Given the description of an element on the screen output the (x, y) to click on. 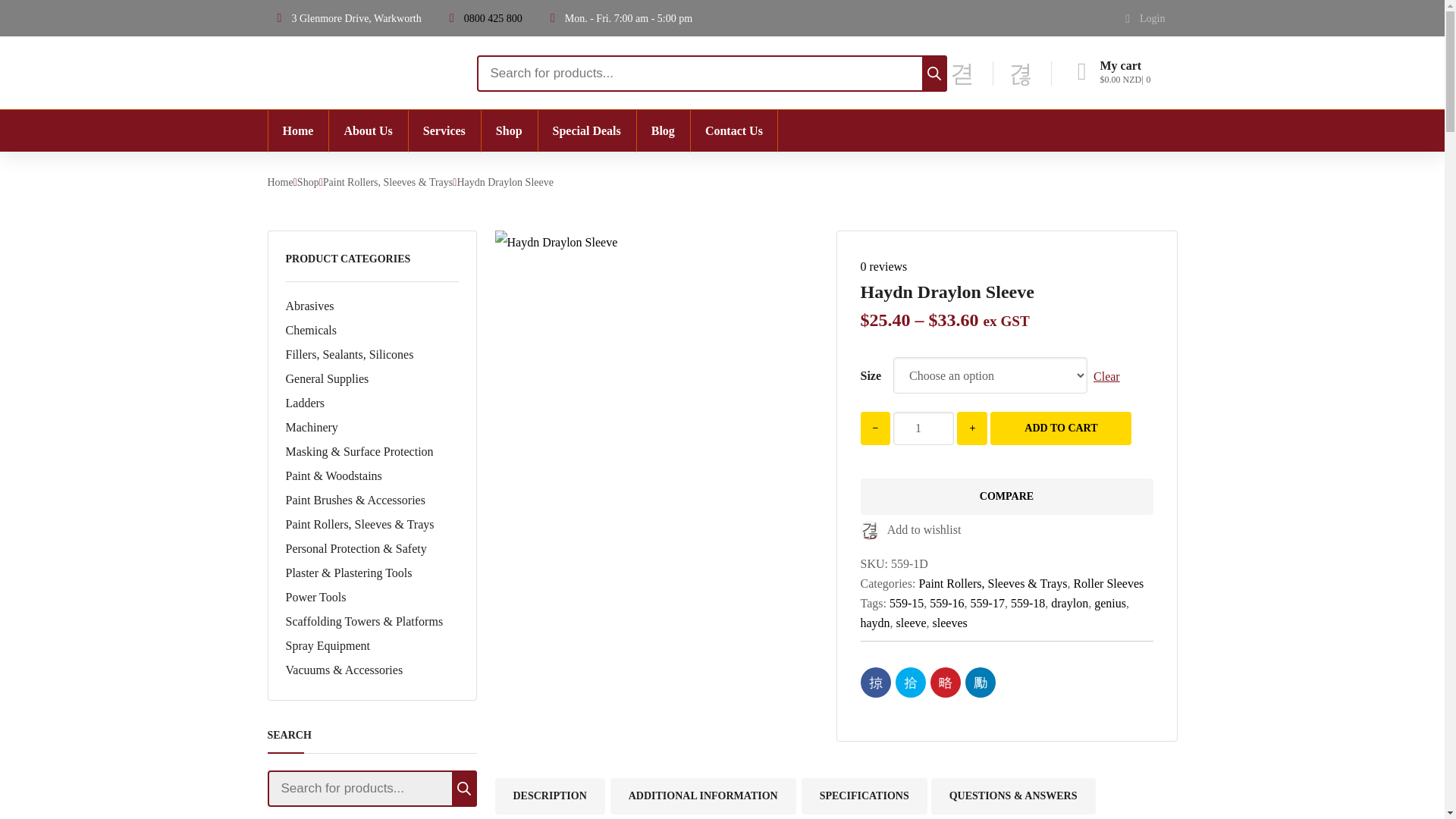
Share on LinkedIn (978, 682)
Tweet this! (909, 682)
559-16 (556, 242)
View your shopping cart (1124, 72)
Share on Pinterest (944, 682)
Share on Facebook (874, 682)
1 (923, 428)
